Given the description of an element on the screen output the (x, y) to click on. 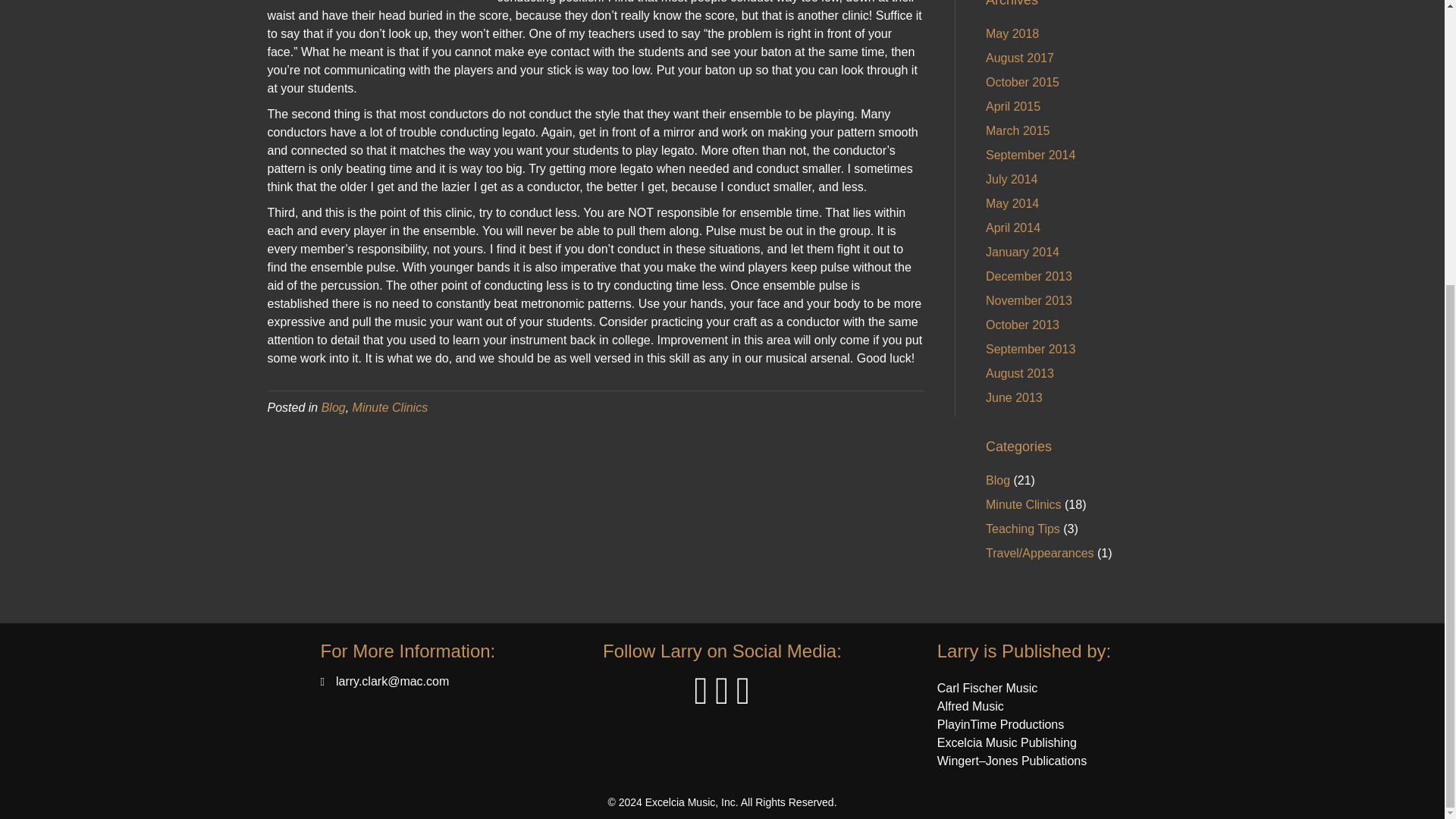
Blog (333, 407)
Minute Clinics (390, 407)
